Given the description of an element on the screen output the (x, y) to click on. 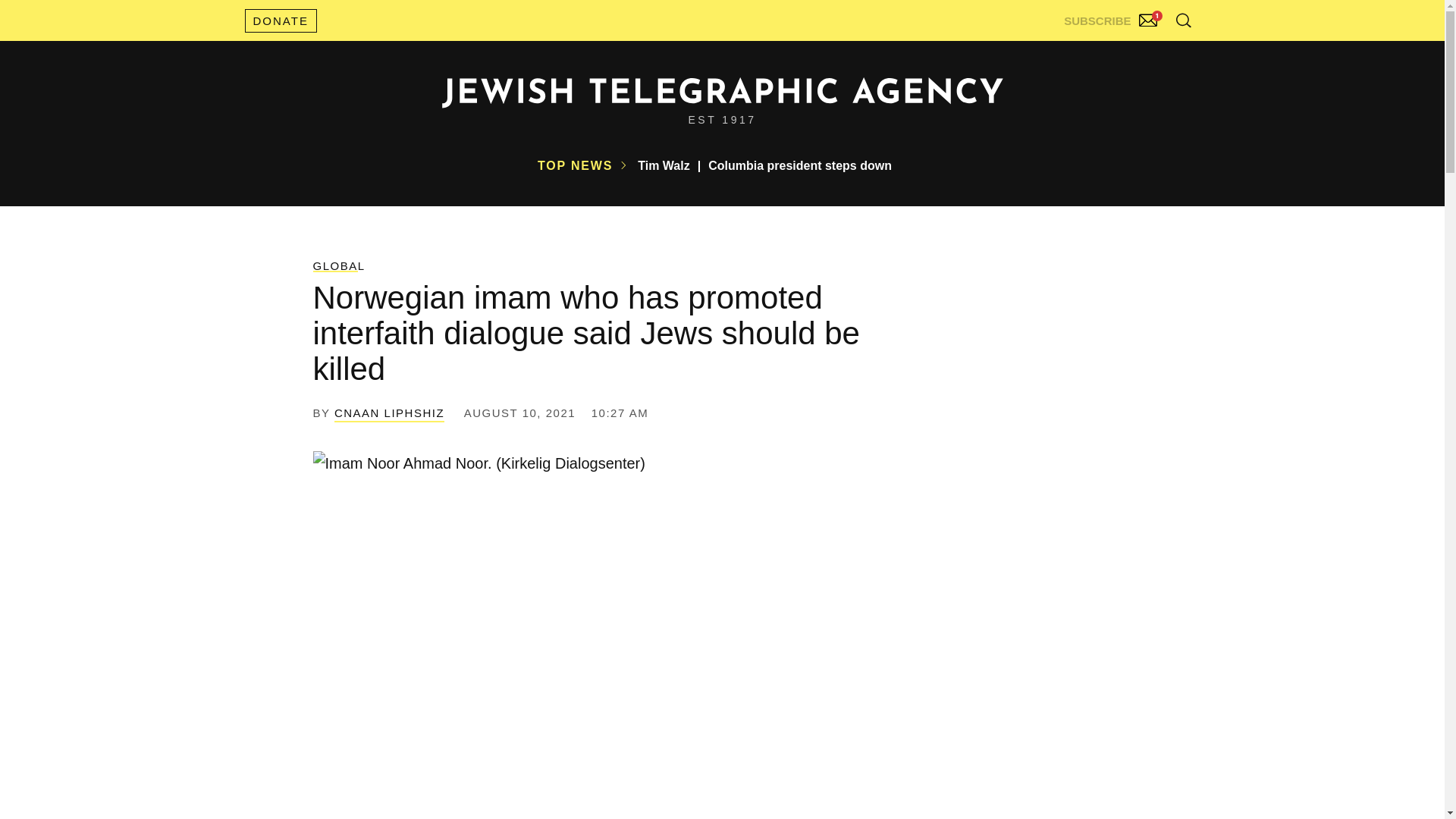
DONATE (279, 20)
Search (1144, 53)
SEARCH TOGGLESEARCH TOGGLE (1182, 20)
SUBSCRIBE (1112, 17)
